Given the description of an element on the screen output the (x, y) to click on. 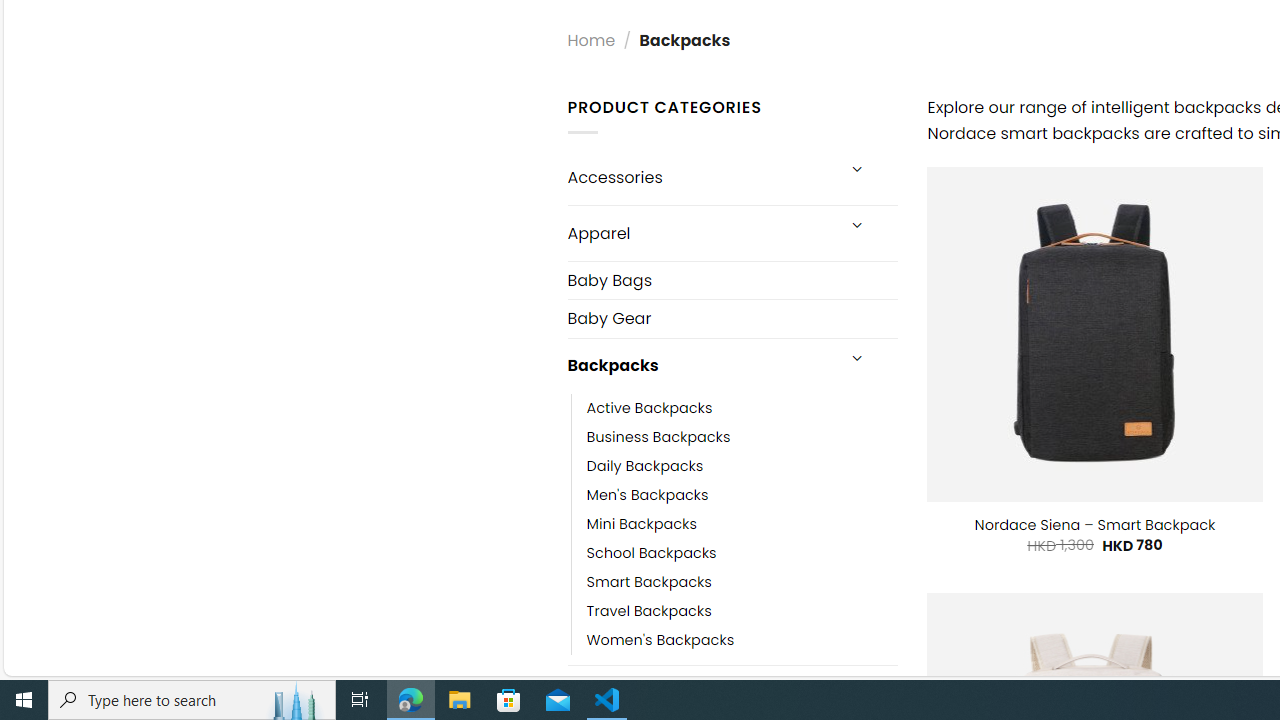
Baby Bags (732, 280)
Baby Bags (732, 279)
